Given the description of an element on the screen output the (x, y) to click on. 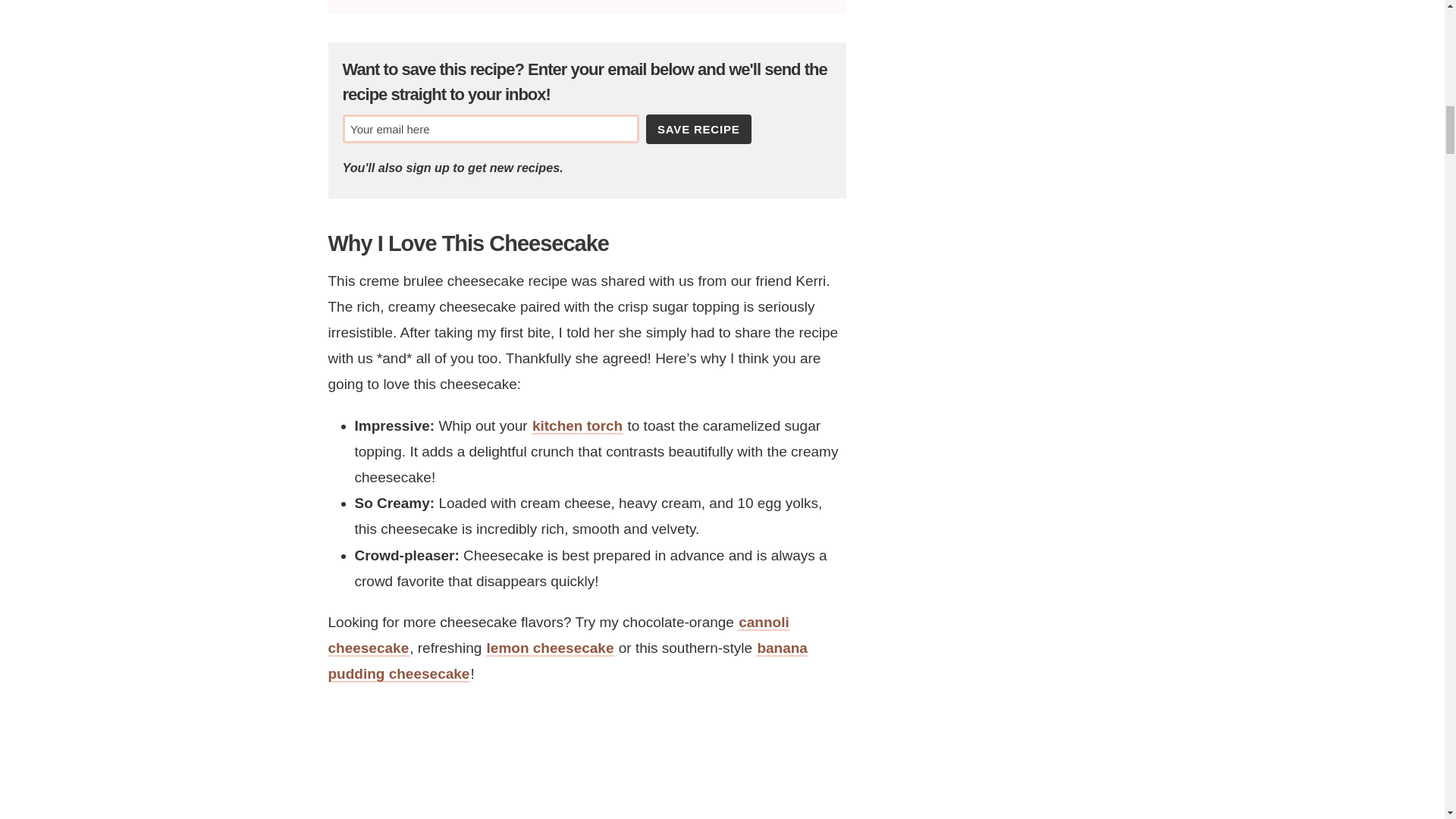
Save Recipe (698, 129)
